Given the description of an element on the screen output the (x, y) to click on. 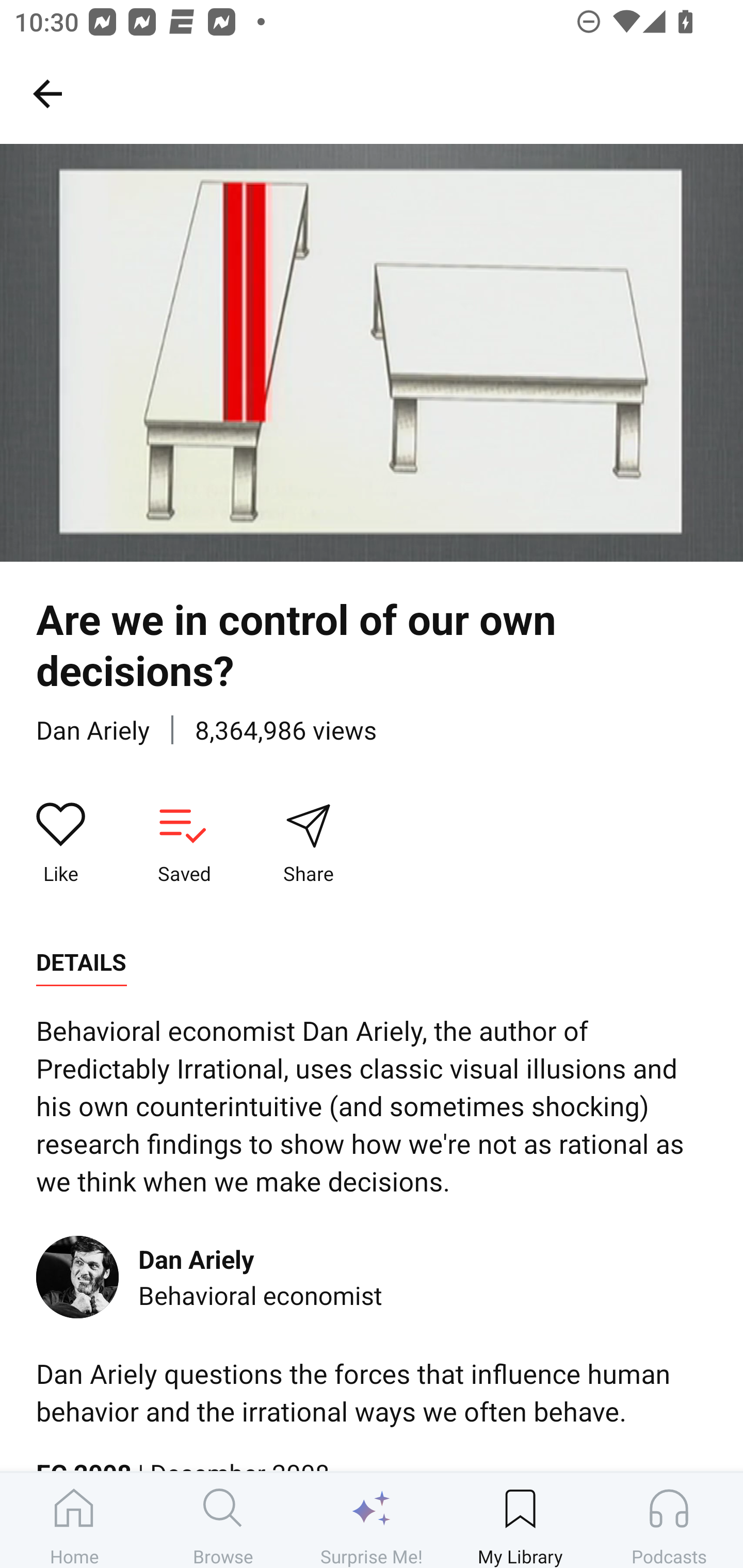
My Library, back (47, 92)
Like (60, 843)
Saved (183, 843)
Share (308, 843)
DETAILS (80, 962)
Home (74, 1520)
Browse (222, 1520)
Surprise Me! (371, 1520)
My Library (519, 1520)
Podcasts (668, 1520)
